Given the description of an element on the screen output the (x, y) to click on. 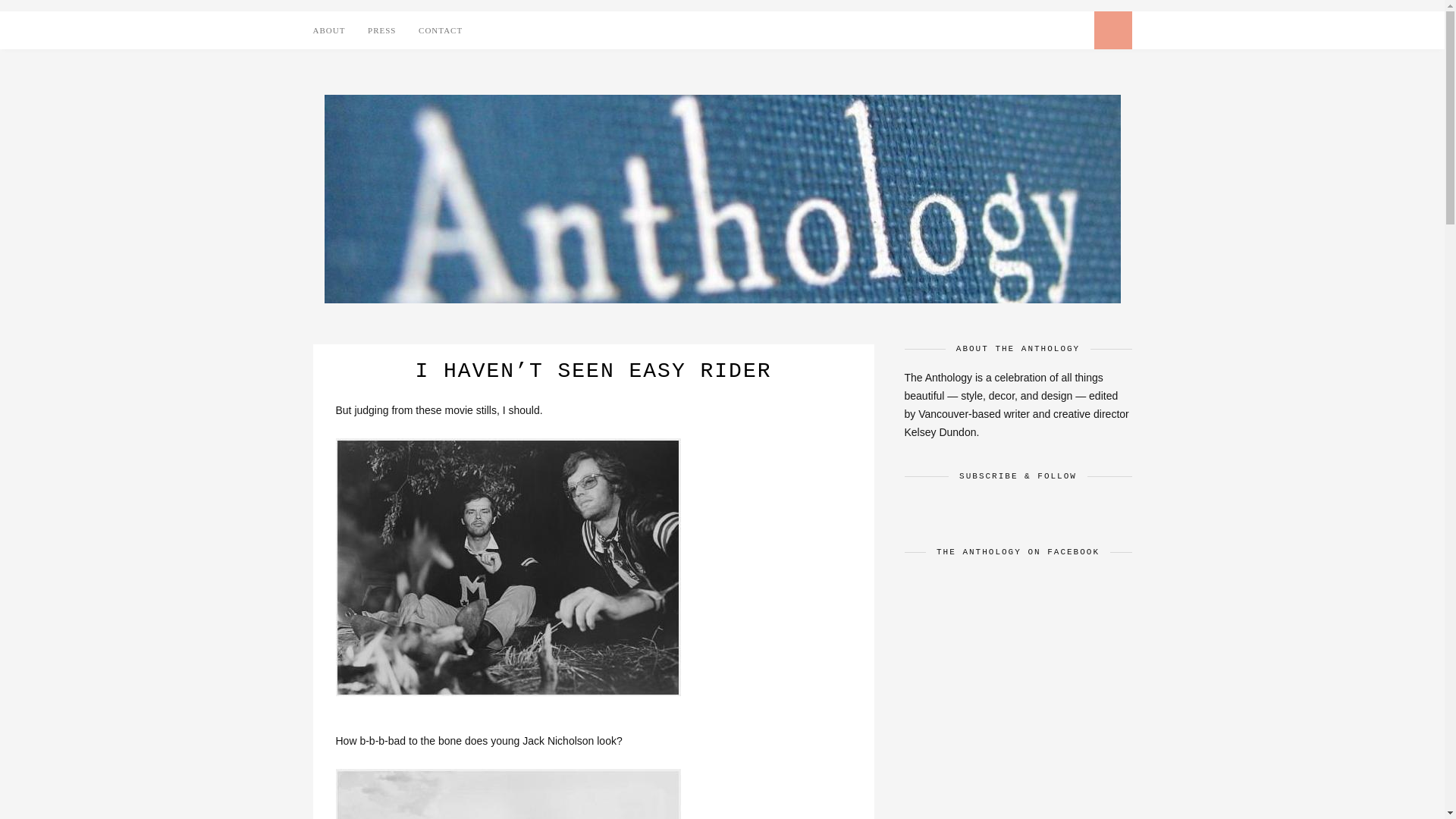
easy-rider (506, 567)
easy-rider-movie-still (506, 794)
CONTACT (441, 30)
